Given the description of an element on the screen output the (x, y) to click on. 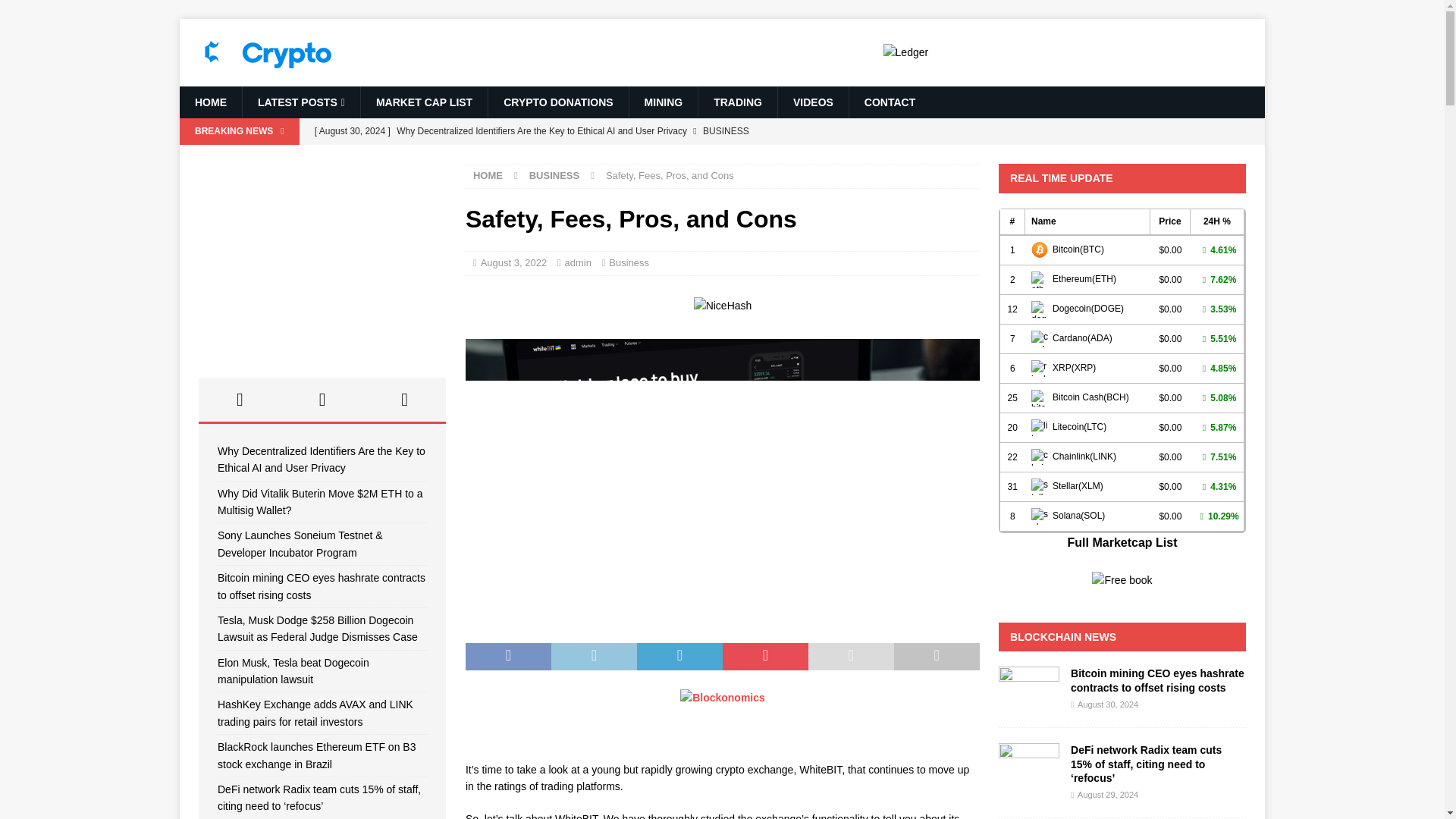
HOME (487, 174)
VIDEOS (812, 101)
BUSINESS (554, 174)
HOME (210, 101)
CONTACT (889, 101)
admin (577, 262)
Business (628, 262)
TRADING (737, 101)
